Given the description of an element on the screen output the (x, y) to click on. 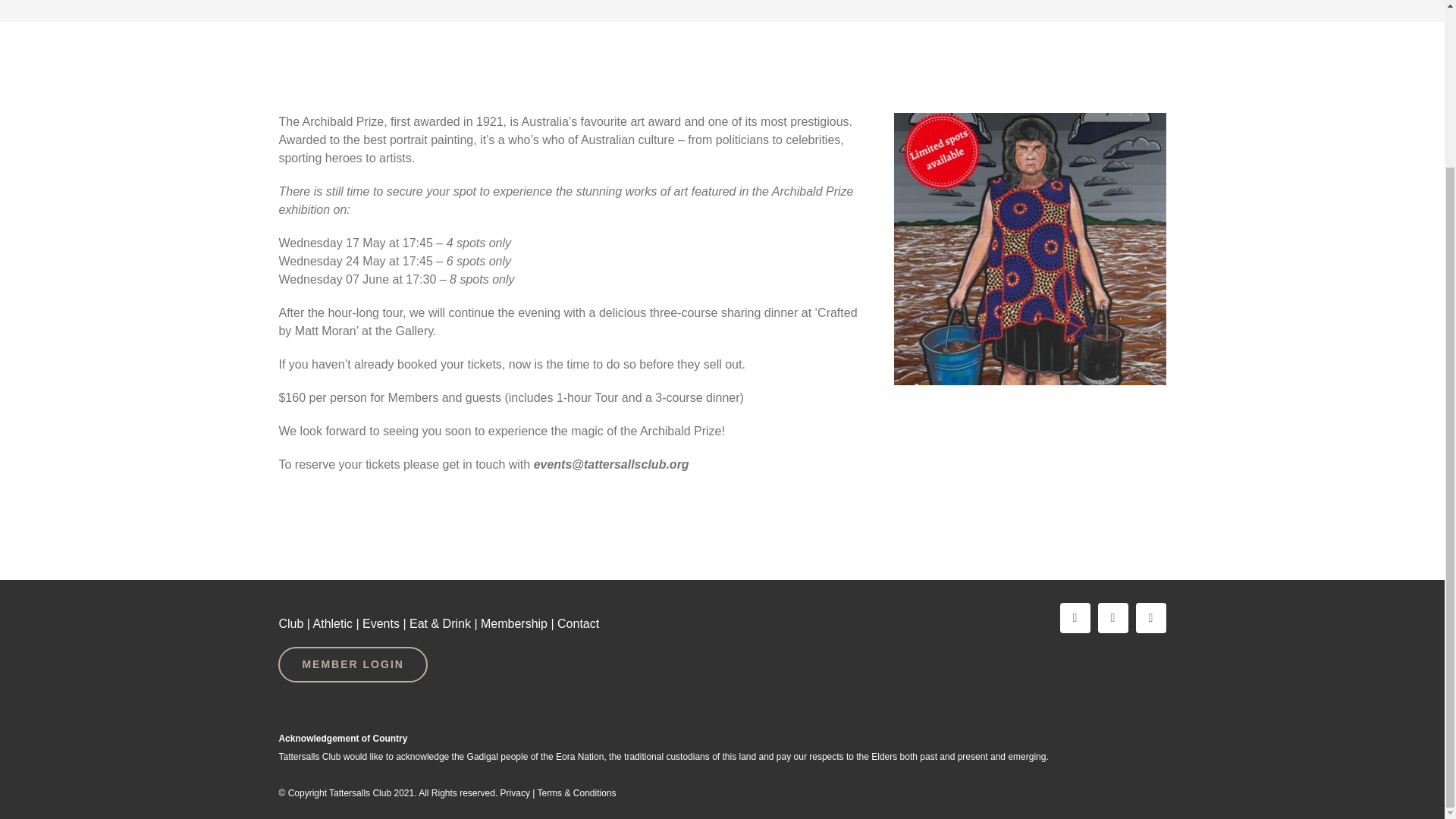
MEMBER LOGIN (352, 664)
Events (380, 623)
Limited spots available square (1029, 248)
Instagram (1112, 617)
Membership (513, 623)
LinkedIn (1150, 617)
Facebook (1074, 617)
Athletic (332, 623)
Club (290, 623)
Contact (577, 623)
